Given the description of an element on the screen output the (x, y) to click on. 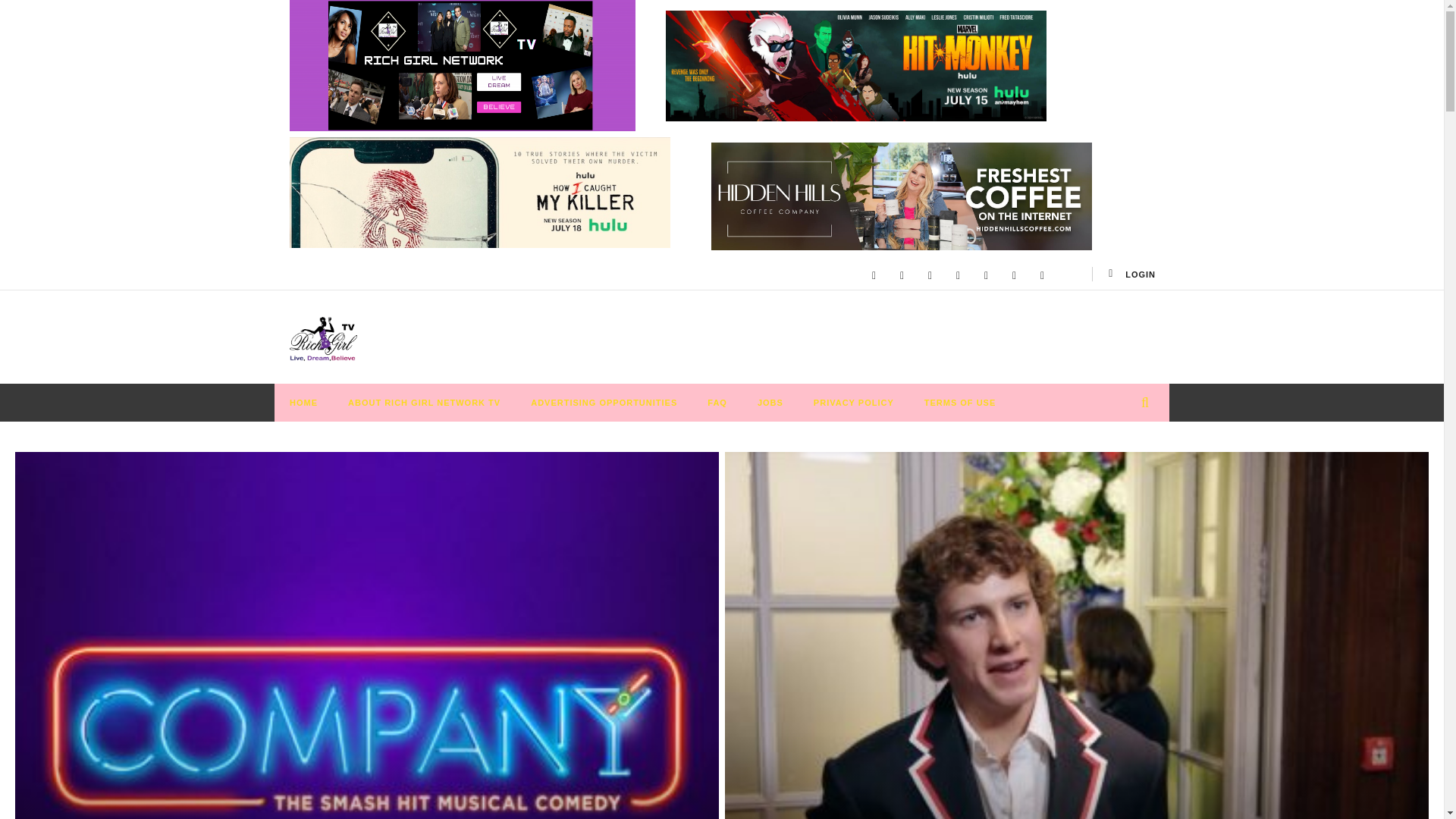
FAQ (717, 402)
Email (986, 275)
Rich Girl Network TV (322, 338)
JOBS (769, 402)
PRIVACY POLICY (852, 402)
search (1129, 434)
Instagram (1042, 275)
TERMS OF USE (959, 402)
Facebook (874, 275)
ABOUT RICH GIRL NETWORK TV (424, 402)
HOME (304, 402)
YouTube (901, 275)
ADVERTISING OPPORTUNITIES (604, 402)
LinkedIn (957, 275)
Twitter (929, 275)
